Given the description of an element on the screen output the (x, y) to click on. 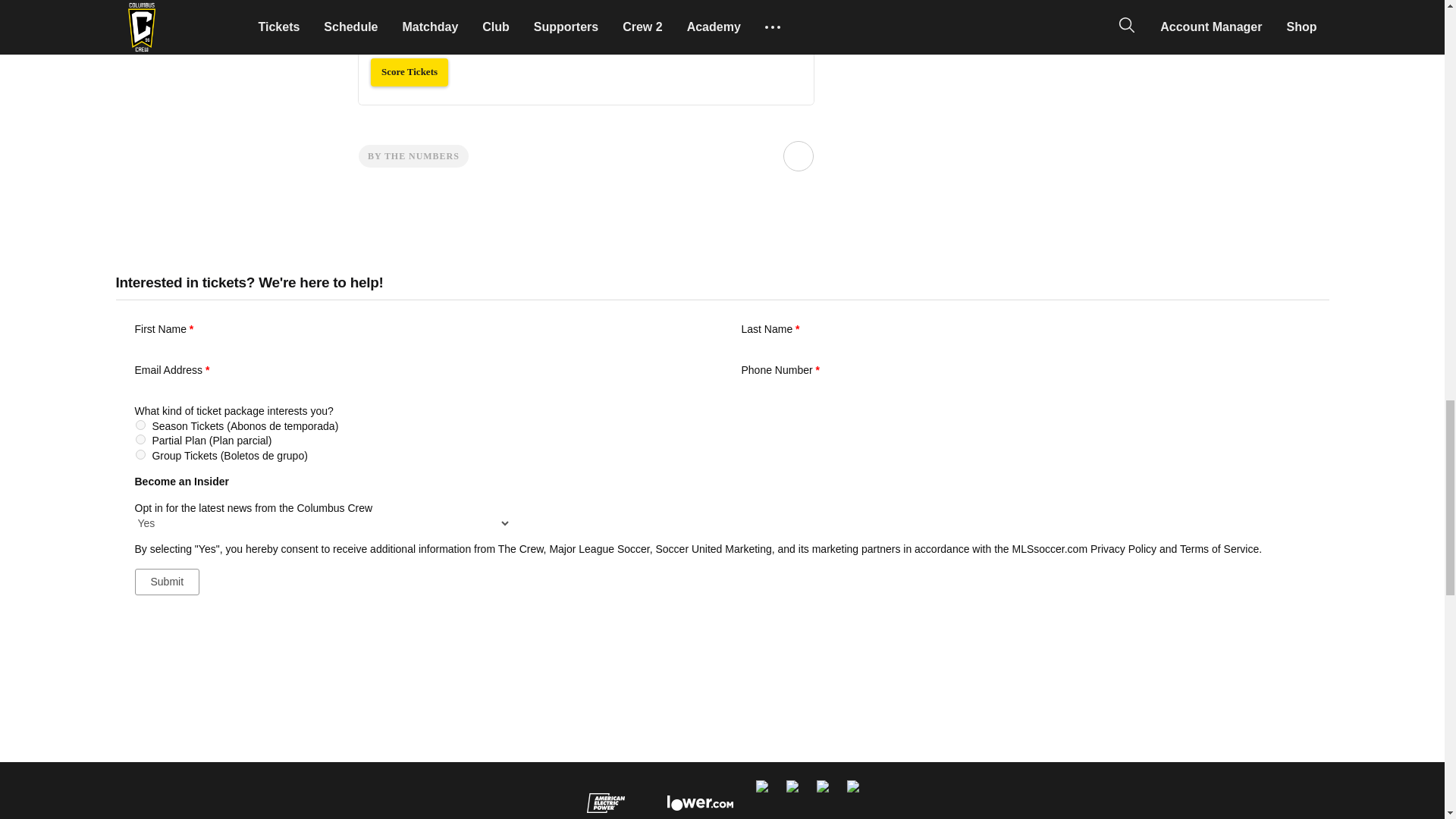
Score Tickets (407, 72)
Partial Plan (139, 439)
Group Tickets (139, 454)
Submit (167, 582)
Nationwide (761, 788)
Season Tickets (139, 424)
